Given the description of an element on the screen output the (x, y) to click on. 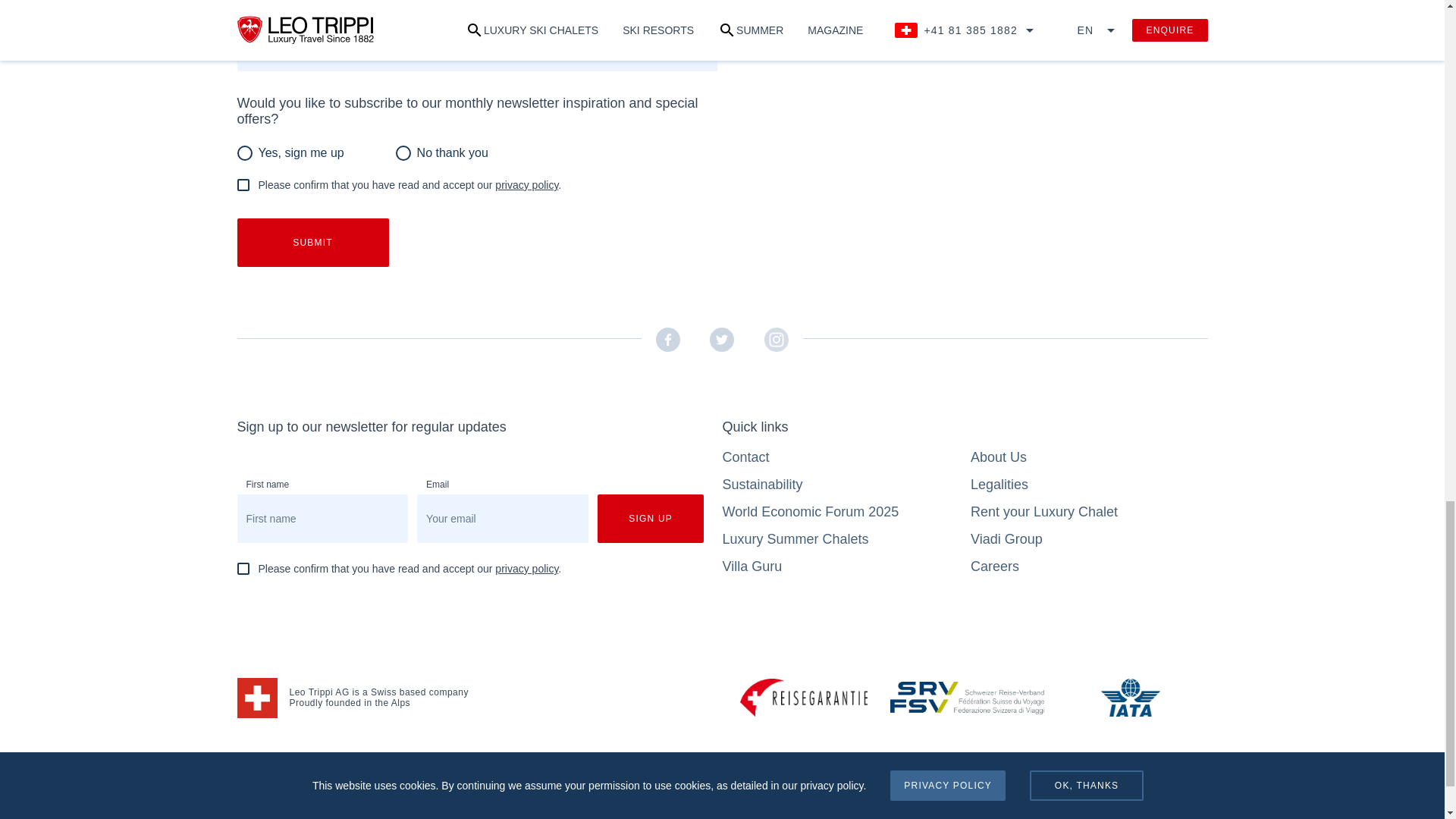
Contact (745, 457)
Viadi Group (1006, 539)
About Us (998, 457)
Villa Guru (751, 566)
privacy policy (526, 184)
SUBMIT (311, 242)
Sustainability (762, 484)
Careers (995, 566)
Rent your Luxury Chalet (1044, 511)
SIGN UP (650, 518)
World Economic Forum 2025 (810, 511)
Luxury Summer Chalets (794, 539)
Legalities (999, 484)
privacy policy (526, 568)
